Given the description of an element on the screen output the (x, y) to click on. 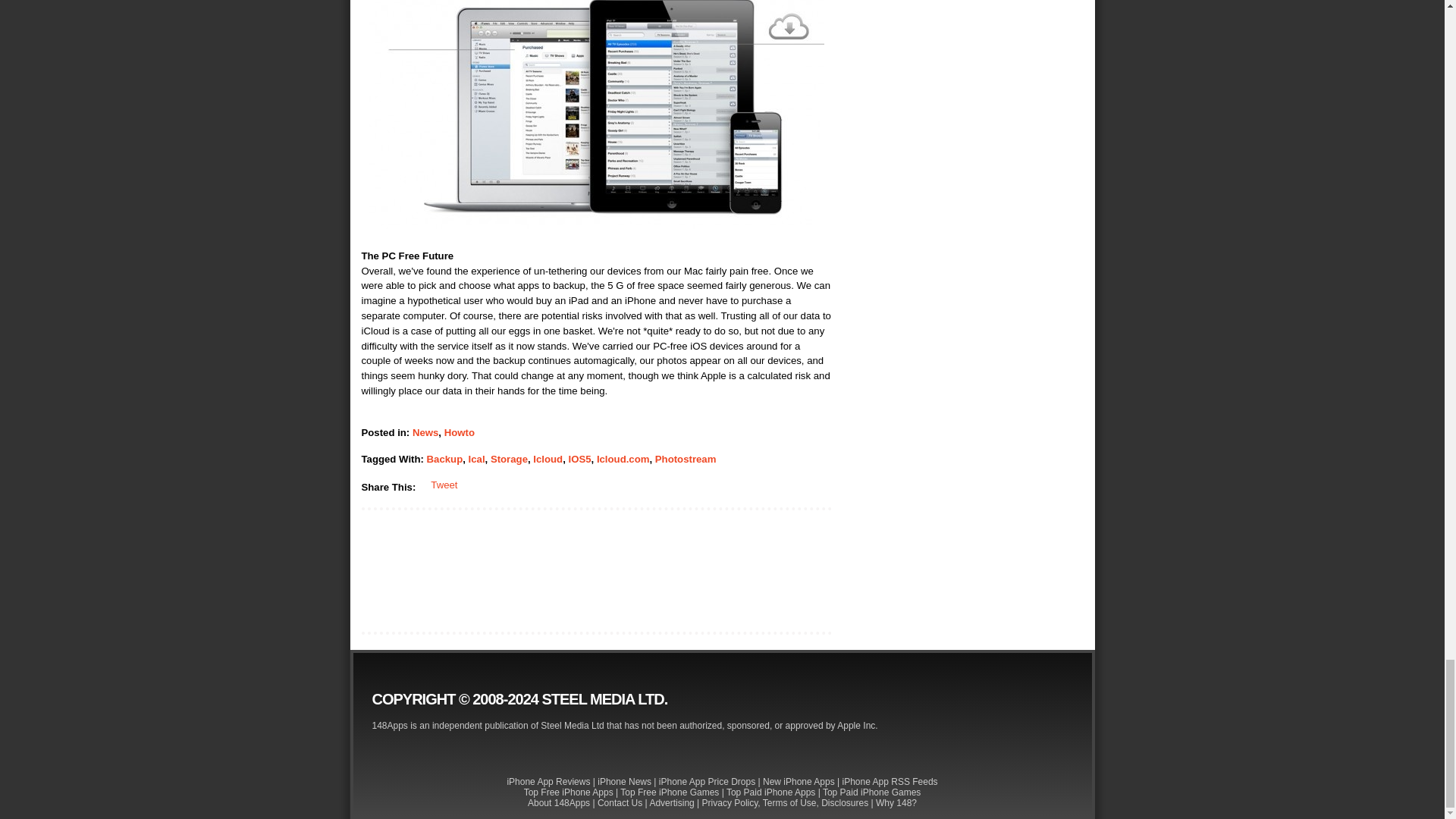
Ical (476, 459)
News (425, 432)
Backup (444, 459)
Howto (459, 432)
